Given the description of an element on the screen output the (x, y) to click on. 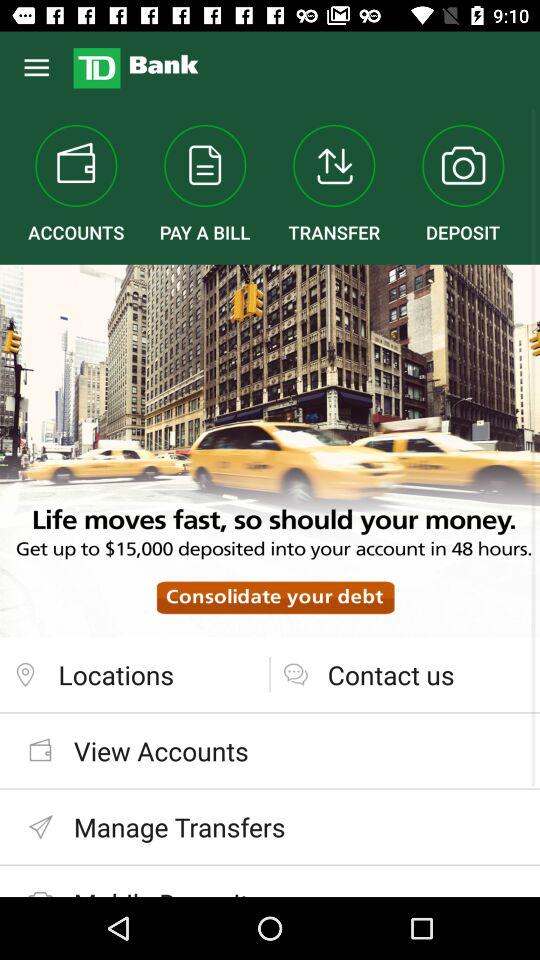
turn on locations at the bottom left corner (134, 674)
